Given the description of an element on the screen output the (x, y) to click on. 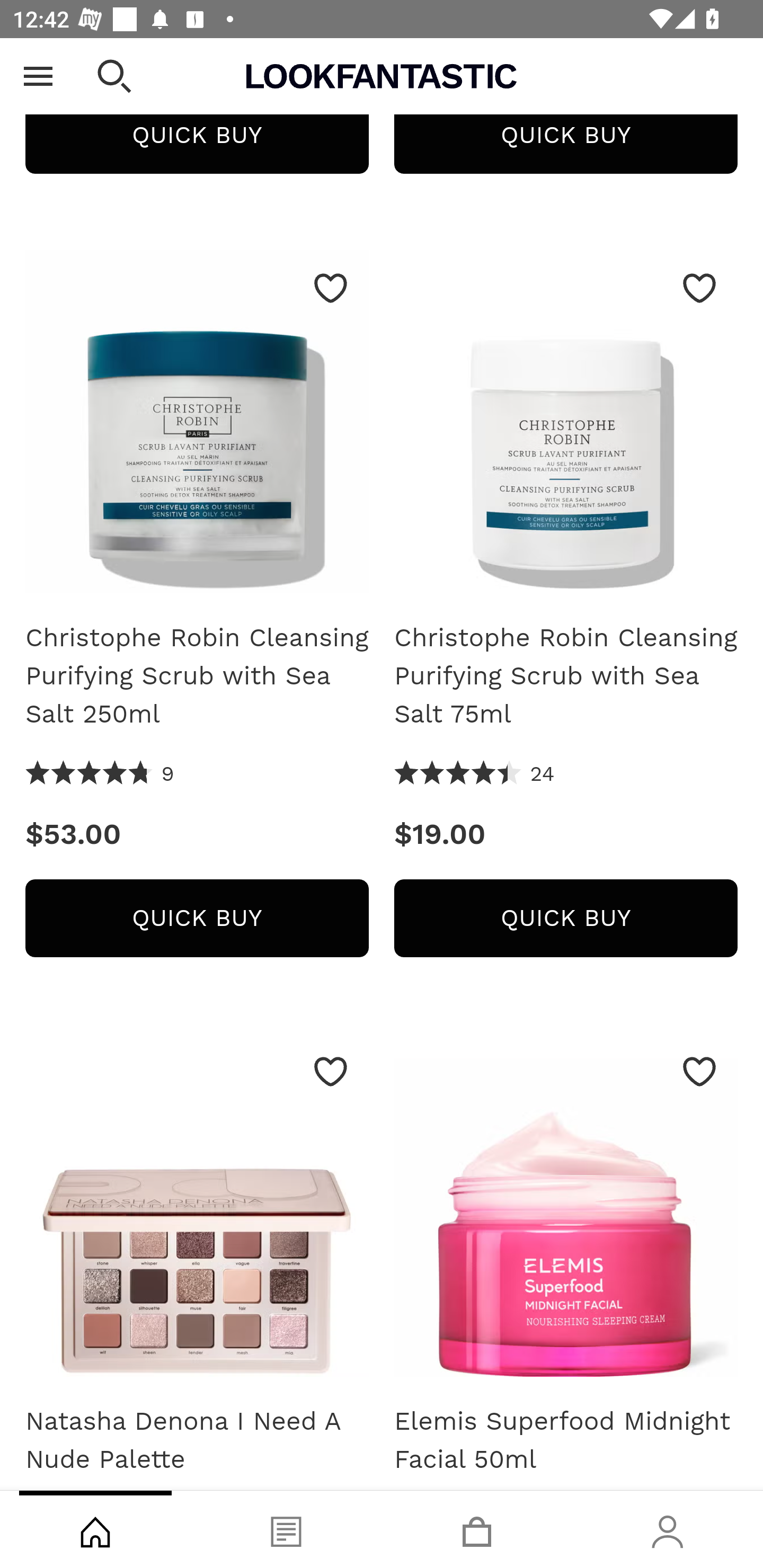
Save to Wishlist (330, 288)
Save to Wishlist (698, 288)
4.78 Stars 9 Reviews (99, 774)
4.46 Stars 24 Reviews (475, 774)
Price: $53.00 (196, 834)
Price: $19.00 (565, 834)
Natasha Denona I Need A Nude Palette (196, 1211)
Elemis Superfood Midnight Facial 50ml (565, 1211)
Save to Wishlist (330, 1071)
Save to Wishlist (698, 1071)
Natasha Denona I Need A Nude Palette (196, 1440)
Elemis Superfood Midnight Facial 50ml (565, 1440)
Shop, tab, 1 of 4 (95, 1529)
Blog, tab, 2 of 4 (285, 1529)
Basket, tab, 3 of 4 (476, 1529)
Account, tab, 4 of 4 (667, 1529)
